Given the description of an element on the screen output the (x, y) to click on. 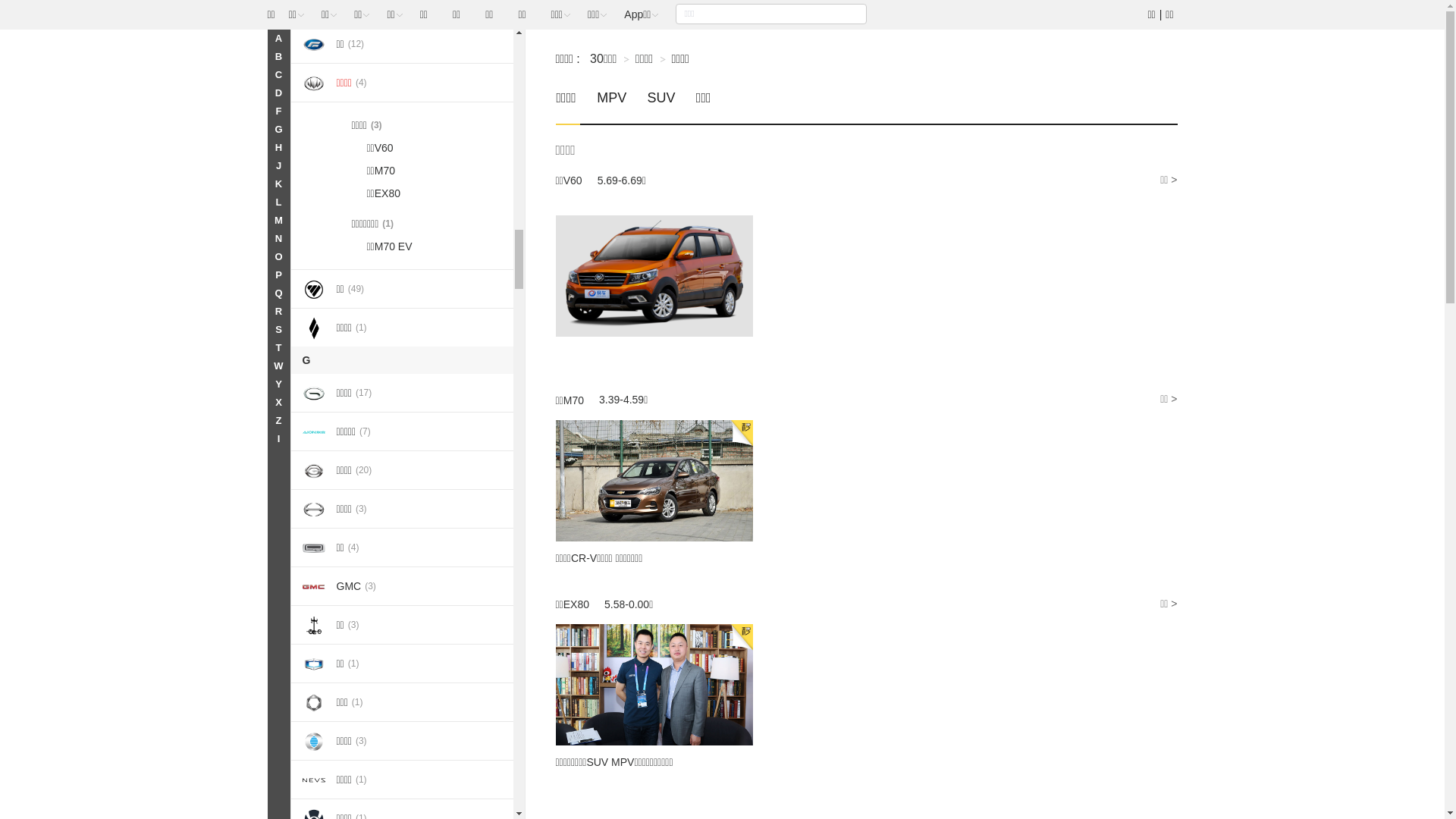
MPV Element type: text (611, 105)
Z Element type: text (277, 420)
R Element type: text (277, 311)
A Element type: text (277, 38)
Y Element type: text (277, 384)
S Element type: text (277, 329)
D Element type: text (277, 93)
I Element type: text (277, 438)
J Element type: text (277, 165)
K Element type: text (277, 184)
N Element type: text (277, 238)
B Element type: text (277, 56)
C Element type: text (277, 74)
G Element type: text (277, 129)
F Element type: text (277, 111)
L Element type: text (277, 202)
SUV Element type: text (661, 105)
H Element type: text (277, 147)
M Element type: text (277, 220)
T Element type: text (277, 347)
P Element type: text (277, 275)
GMC
(3) Element type: text (402, 586)
O Element type: text (277, 256)
W Element type: text (277, 366)
Q Element type: text (277, 293)
X Element type: text (277, 402)
